Given the description of an element on the screen output the (x, y) to click on. 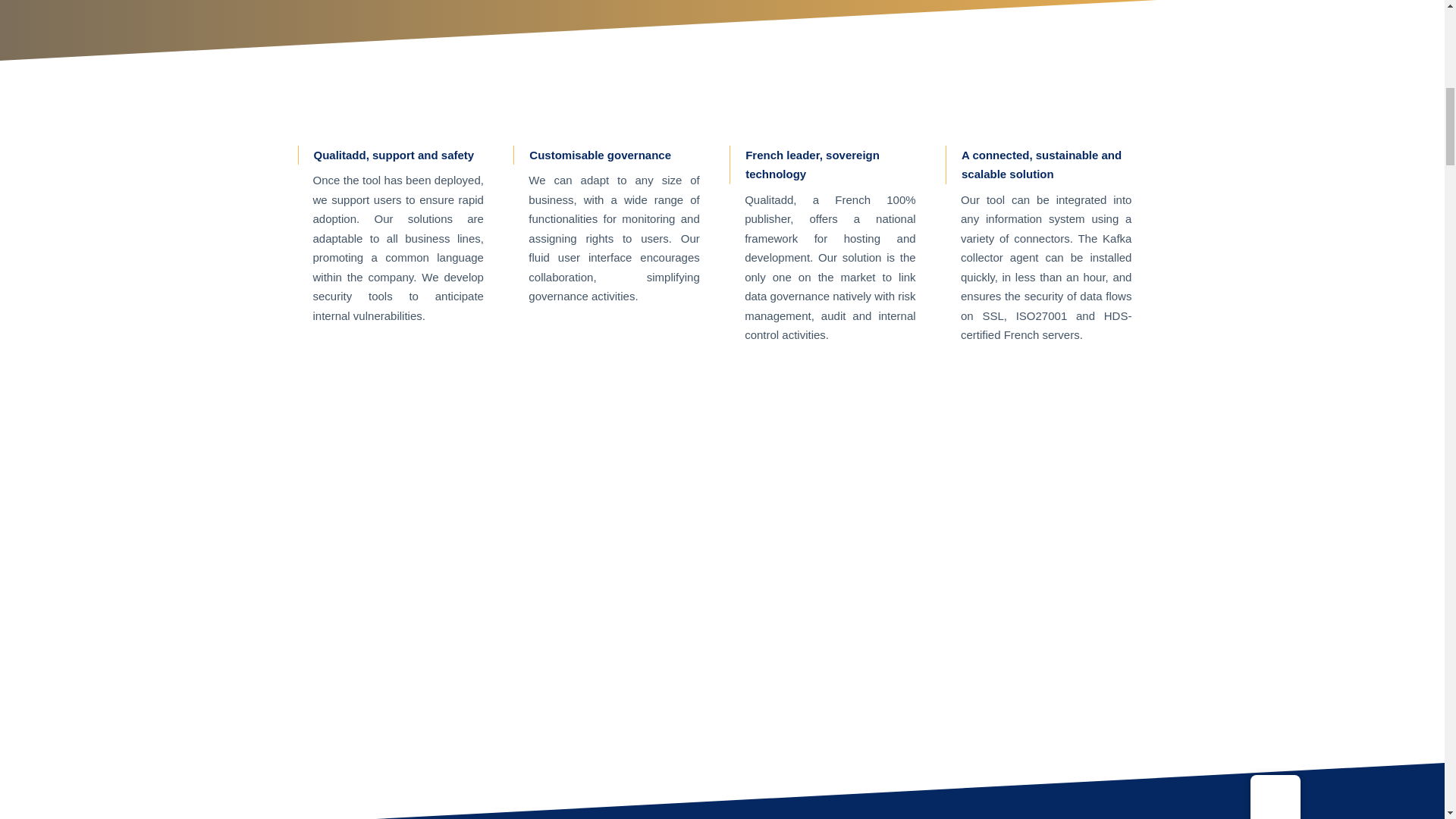
Website - First GRCI page icon- (333, 101)
Website - Third GRCI page icon- (765, 101)
Website - Second GRCI page icon- (549, 101)
